Given the description of an element on the screen output the (x, y) to click on. 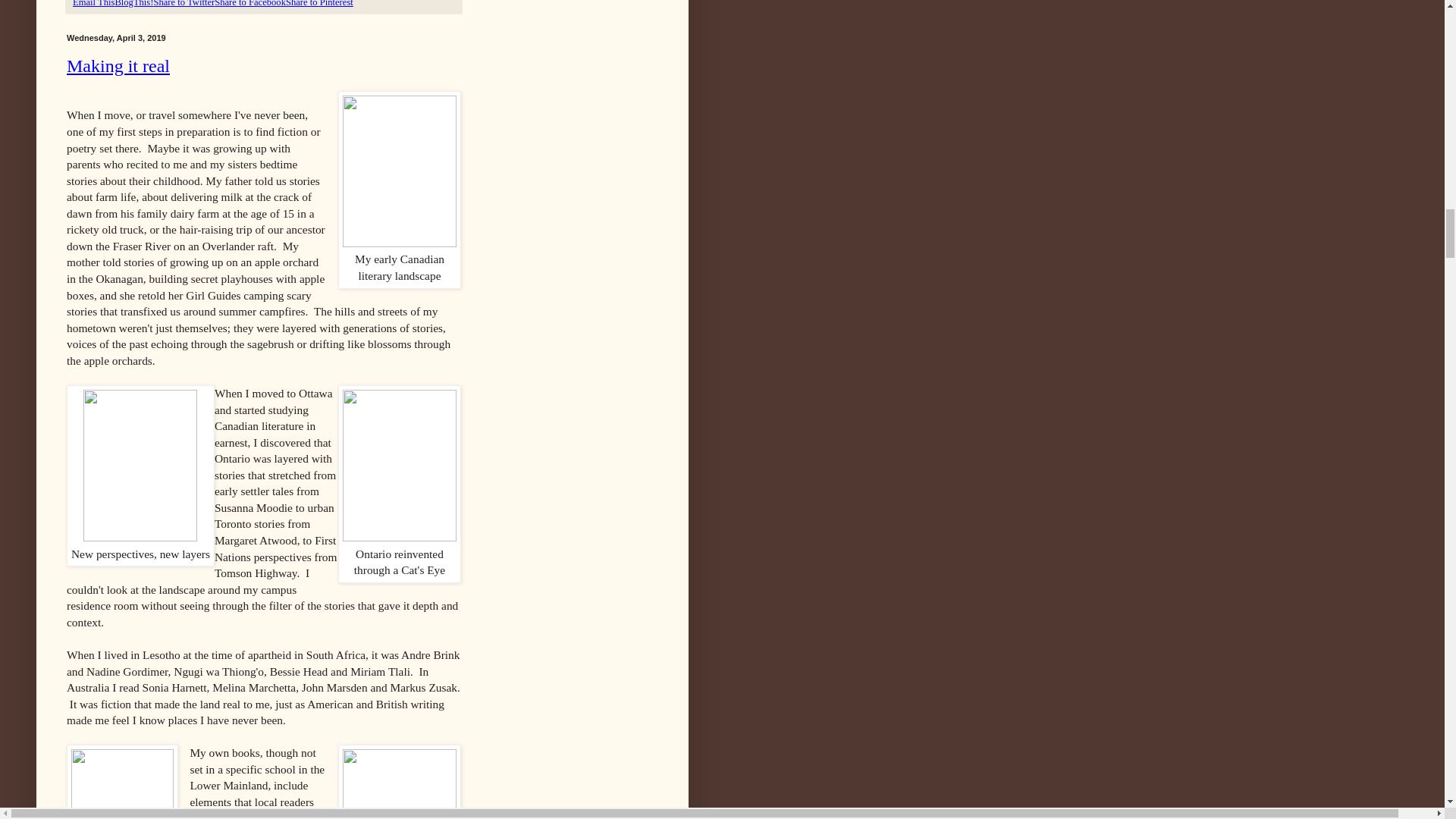
Share to Twitter (183, 3)
Email This (93, 3)
Share to Facebook (249, 3)
BlogThis! (133, 3)
